Given the description of an element on the screen output the (x, y) to click on. 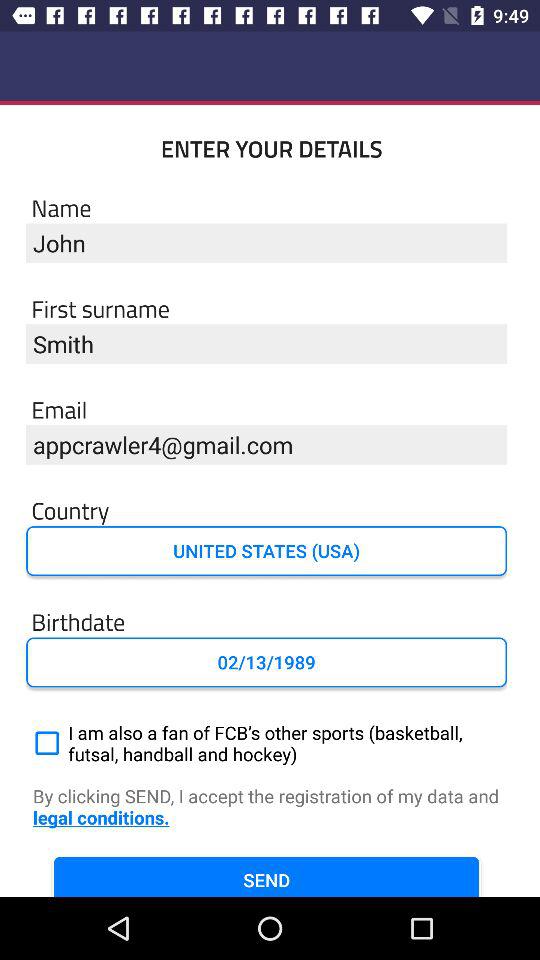
launch item below the birthdate item (266, 662)
